Given the description of an element on the screen output the (x, y) to click on. 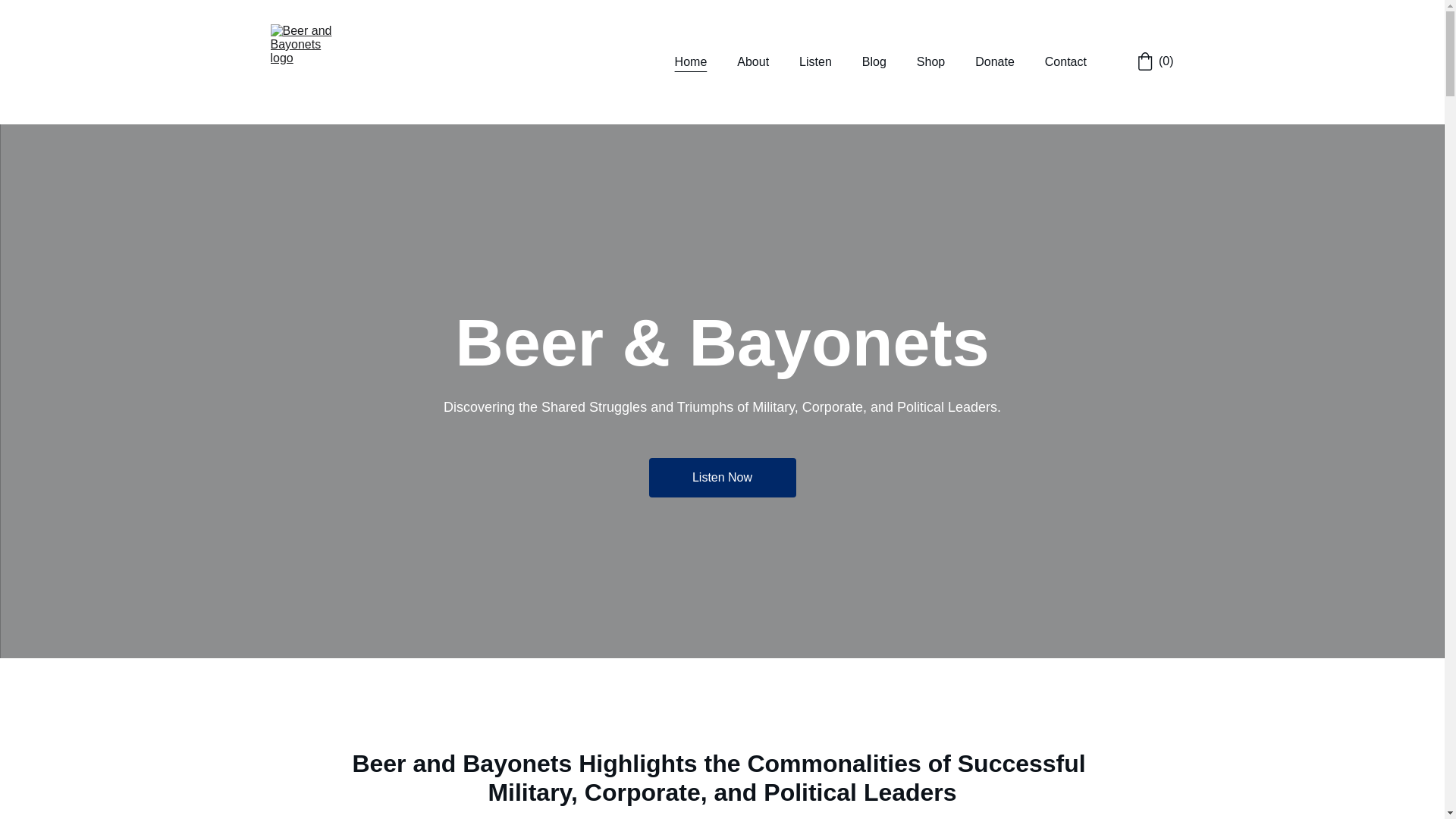
Blog (873, 62)
Donate (994, 62)
Shop (930, 62)
Listen (815, 62)
About (752, 62)
Contact (1065, 62)
Go to cart (1154, 61)
Listen Now (722, 477)
Home (691, 62)
